Given the description of an element on the screen output the (x, y) to click on. 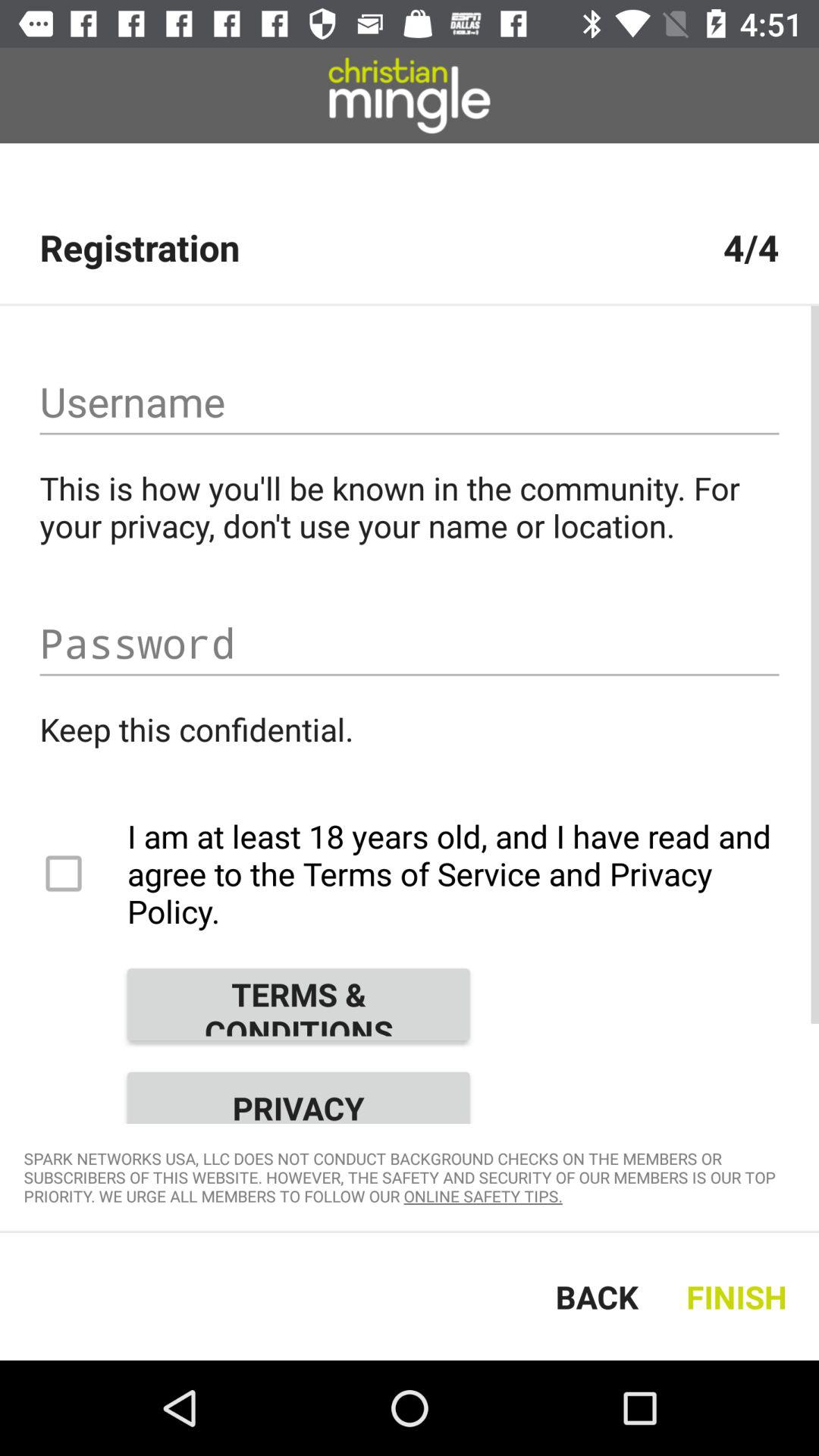
open item next to back (740, 1296)
